Given the description of an element on the screen output the (x, y) to click on. 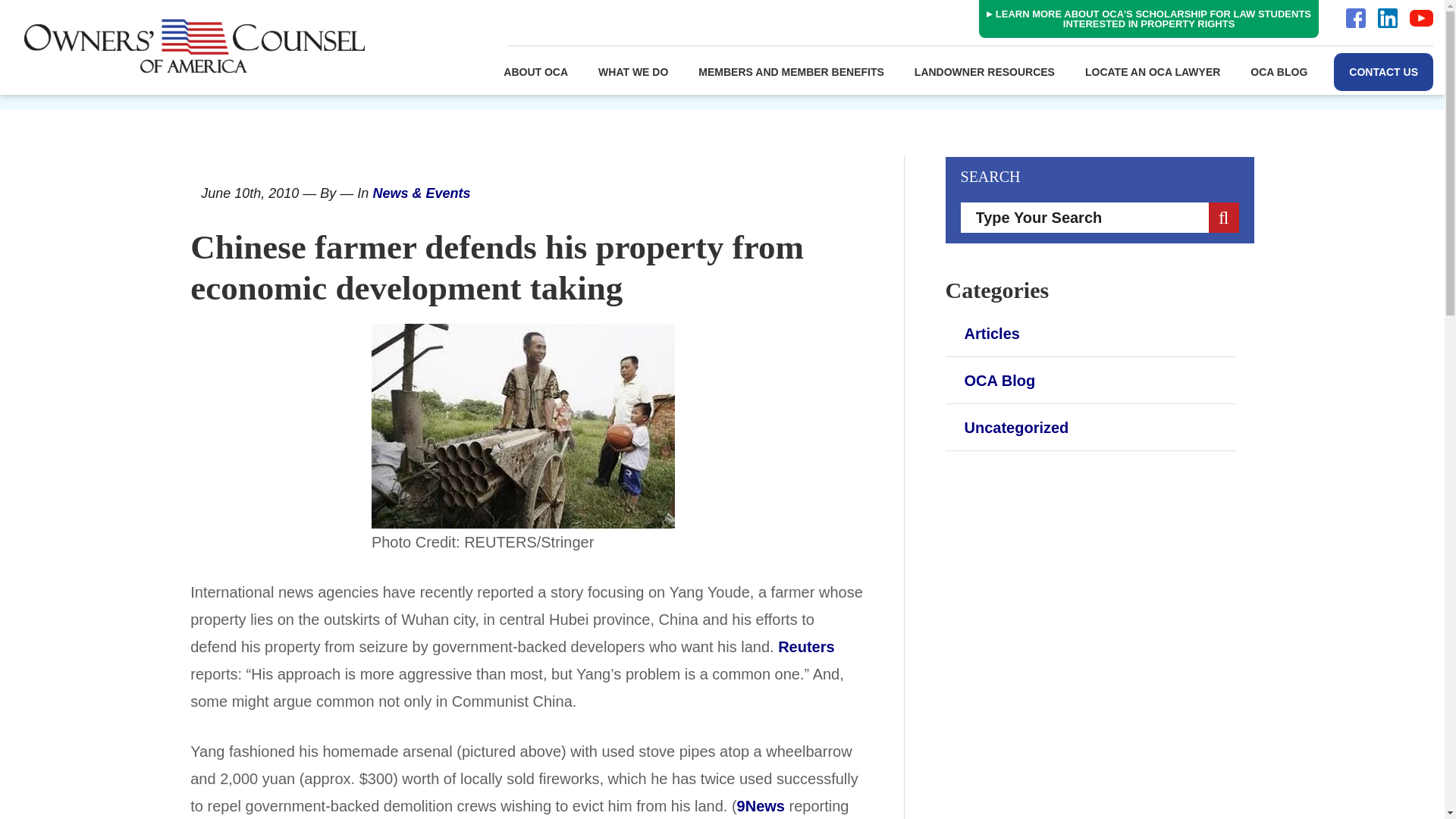
Reuters (805, 646)
CONTACT US (1382, 71)
OCA BLOG (1278, 71)
MEMBERS AND MEMBER BENEFITS (790, 71)
9News (760, 805)
ABOUT OCA (535, 71)
LANDOWNER RESOURCES (984, 71)
LOCATE AN OCA LAWYER (1152, 71)
WHAT WE DO (632, 71)
